Given the description of an element on the screen output the (x, y) to click on. 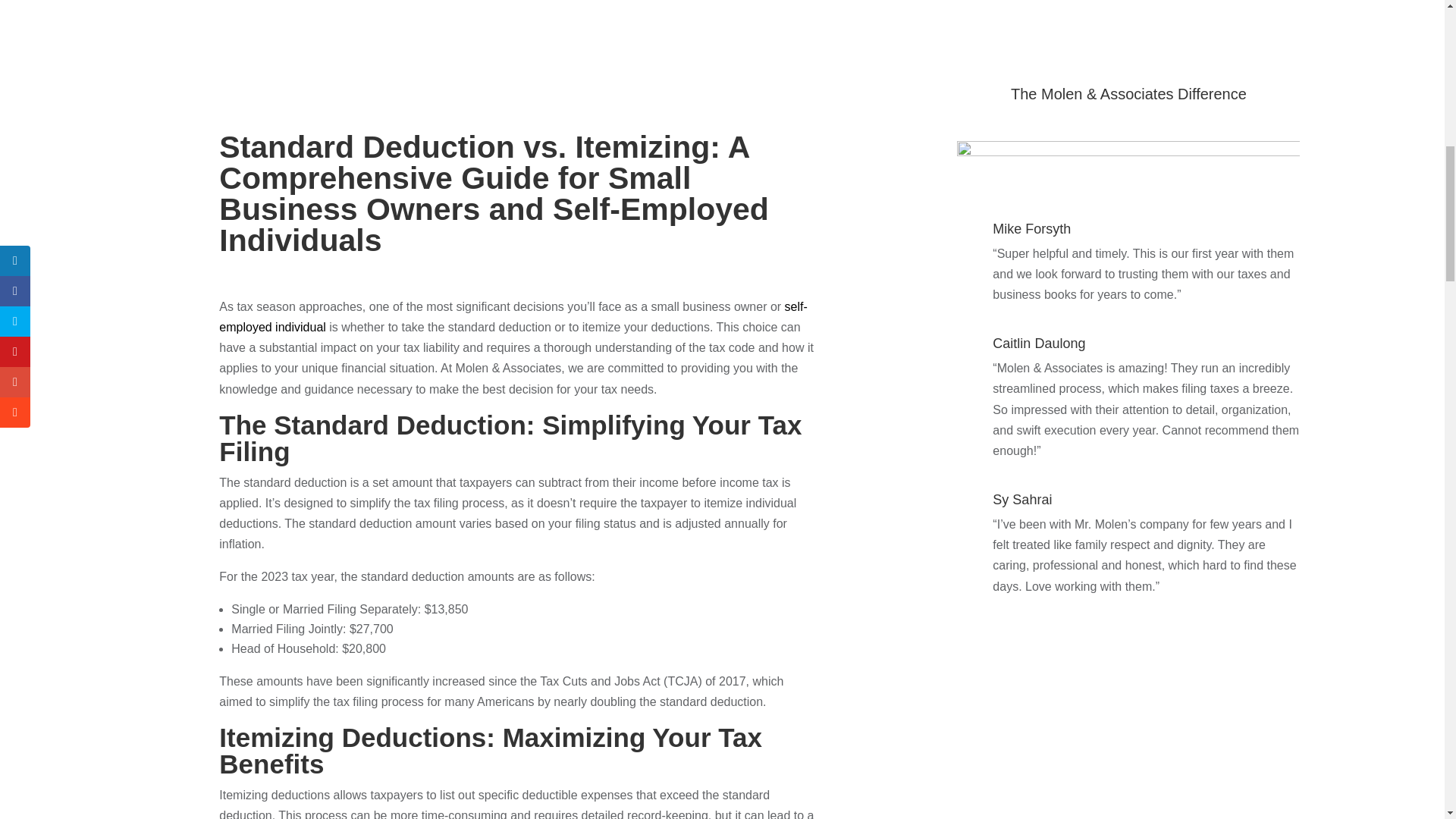
logo (1128, 165)
